Given the description of an element on the screen output the (x, y) to click on. 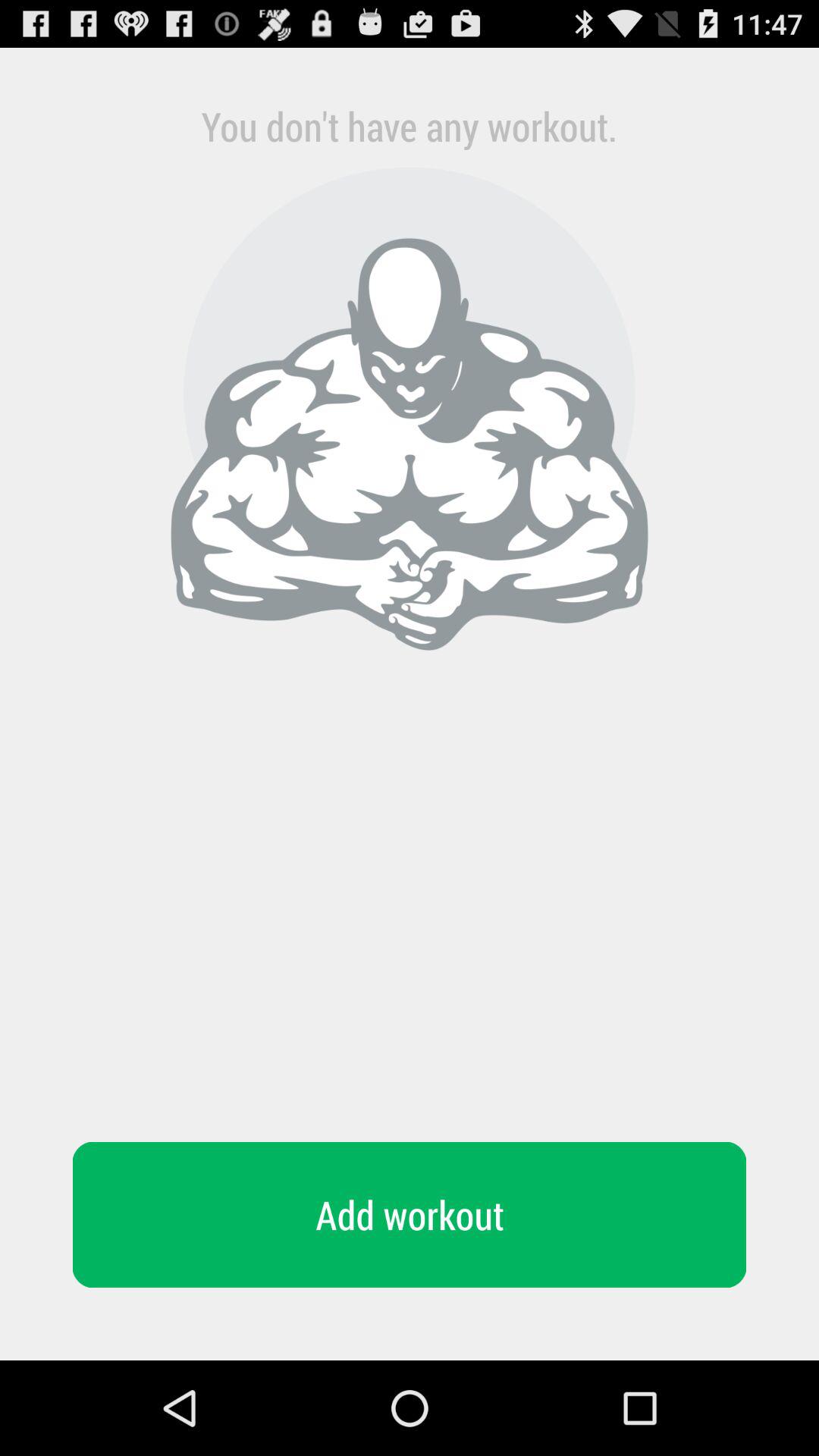
open the button at the bottom (409, 1214)
